Given the description of an element on the screen output the (x, y) to click on. 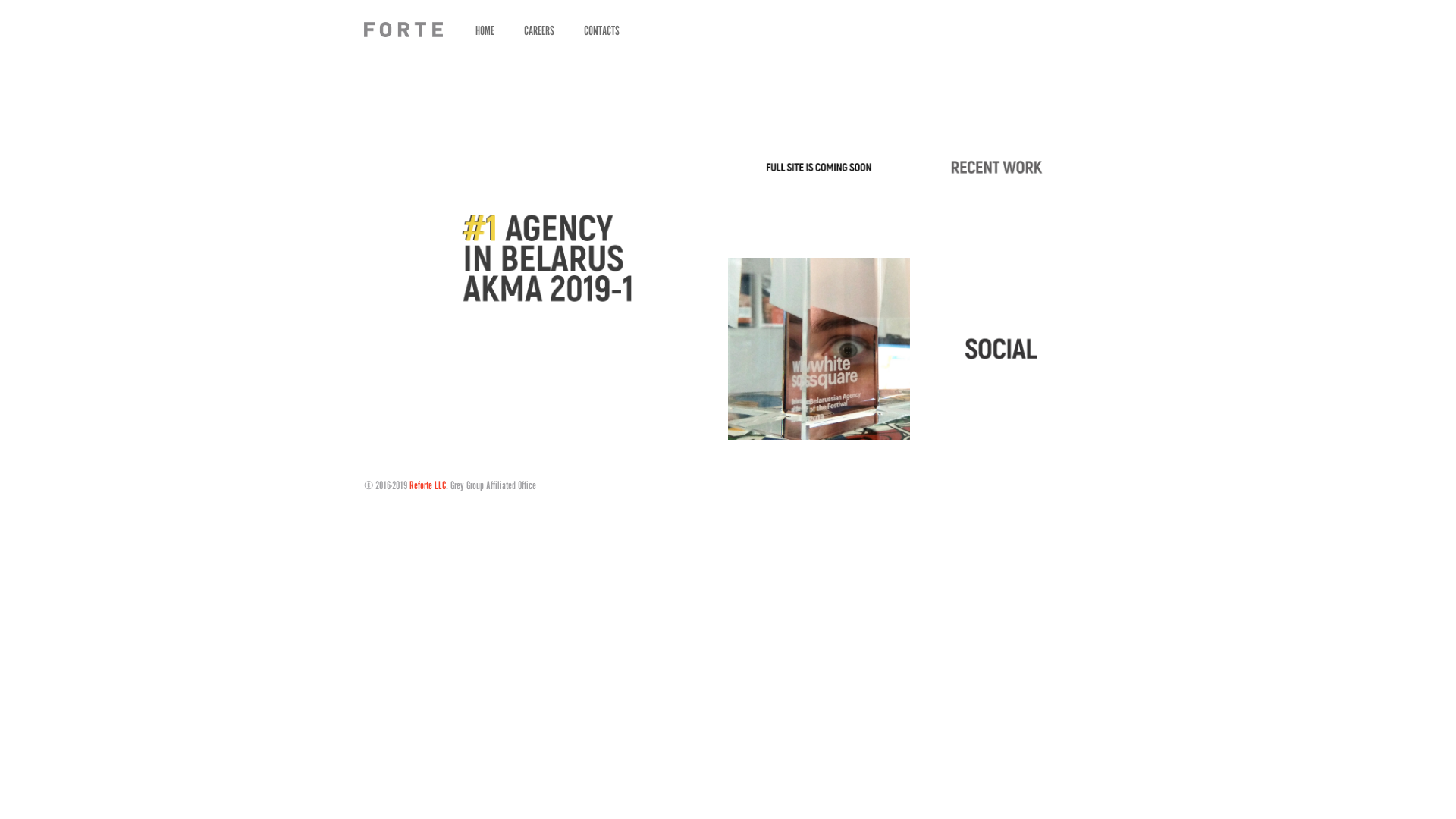
CAREERS Element type: text (539, 29)
CONTACTS Element type: text (601, 29)
HOME Element type: text (484, 29)
